Given the description of an element on the screen output the (x, y) to click on. 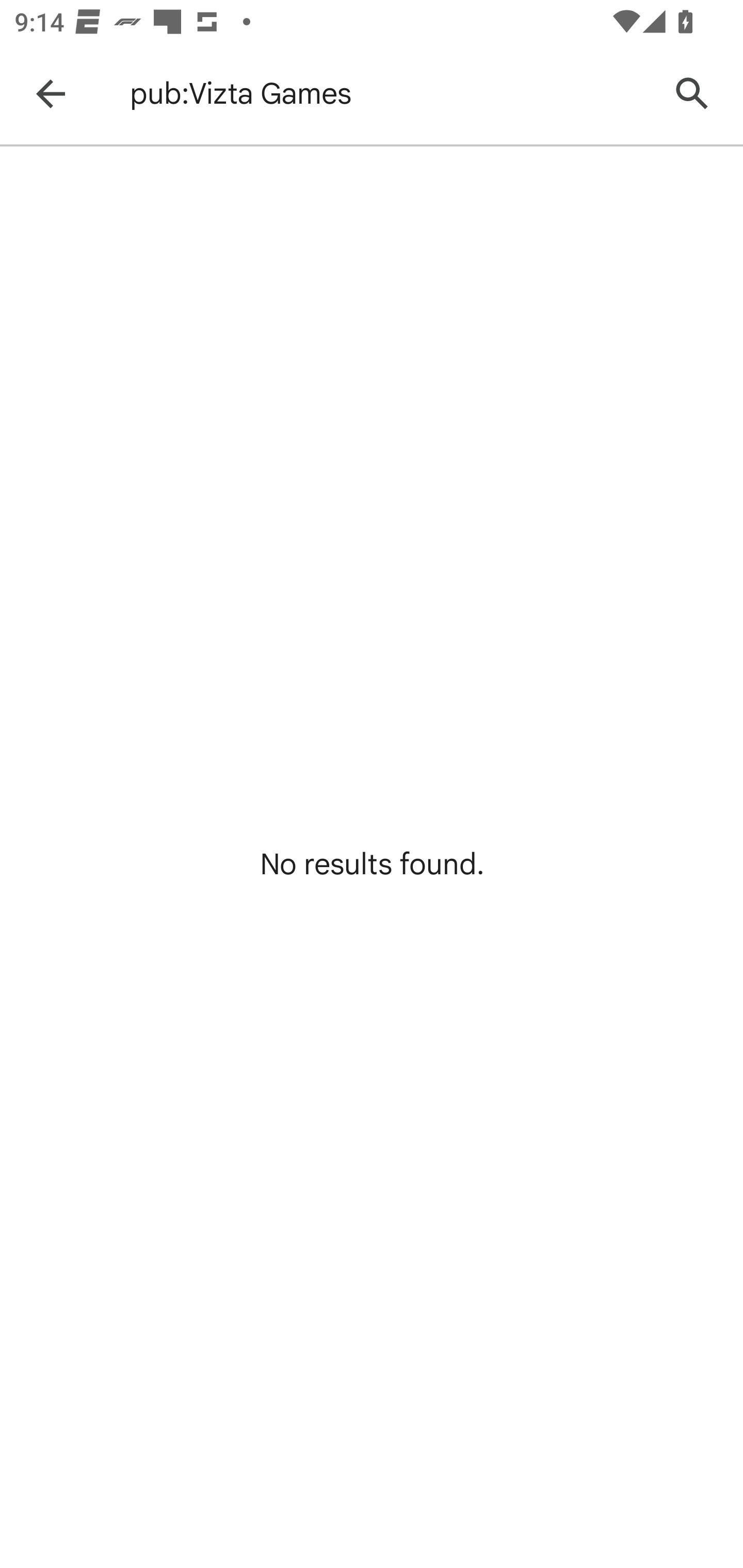
pub:Vizta Games (389, 93)
Navigate up (50, 93)
Search Google Play (692, 93)
